Given the description of an element on the screen output the (x, y) to click on. 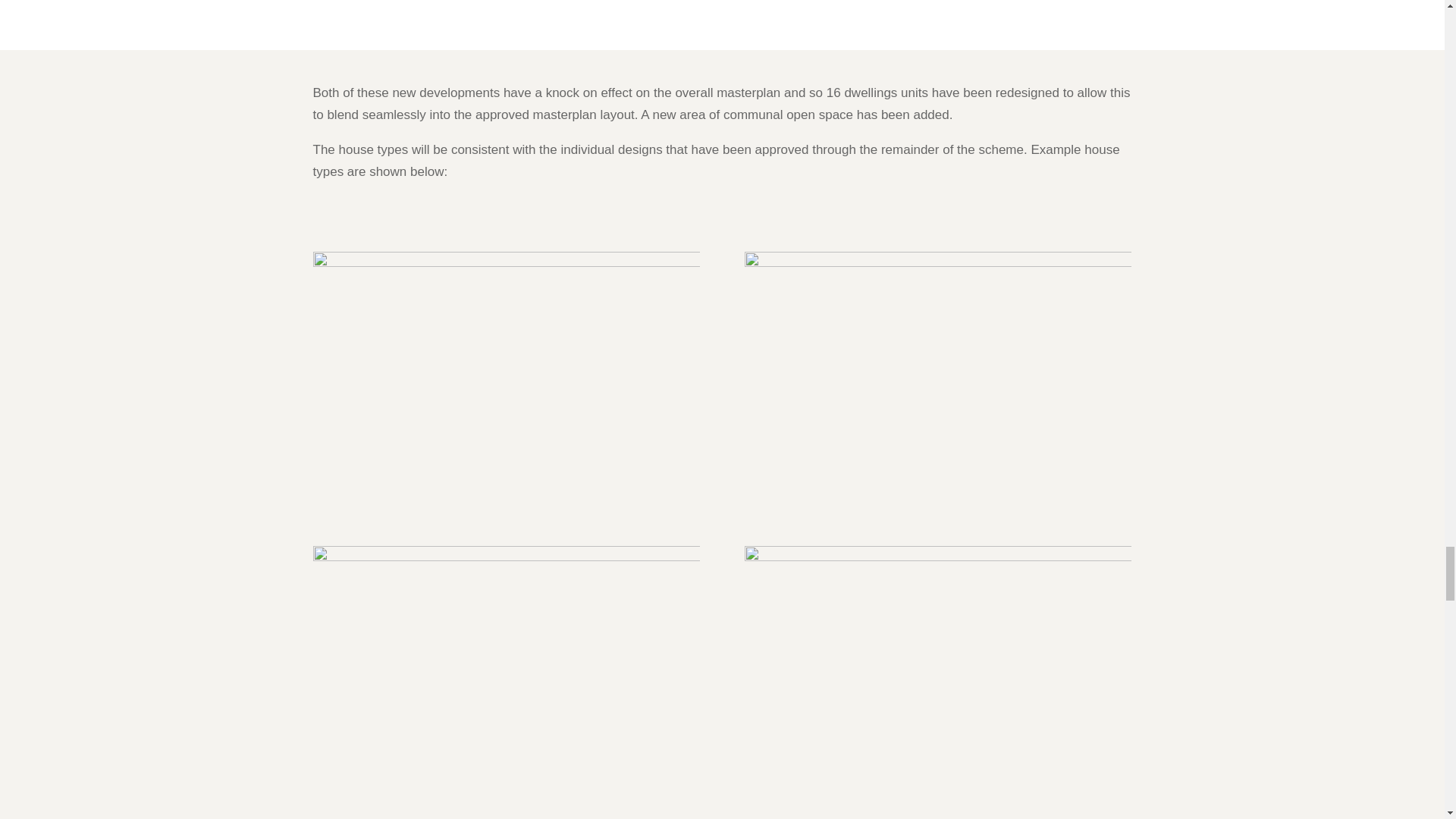
M16 4 Block Floor Plans 006 (937, 681)
M16 3 Block Floor Plans 004 (937, 387)
M16 Semi-Detached 003 (505, 387)
M16 3 Block Elevations 005 (505, 681)
